Given the description of an element on the screen output the (x, y) to click on. 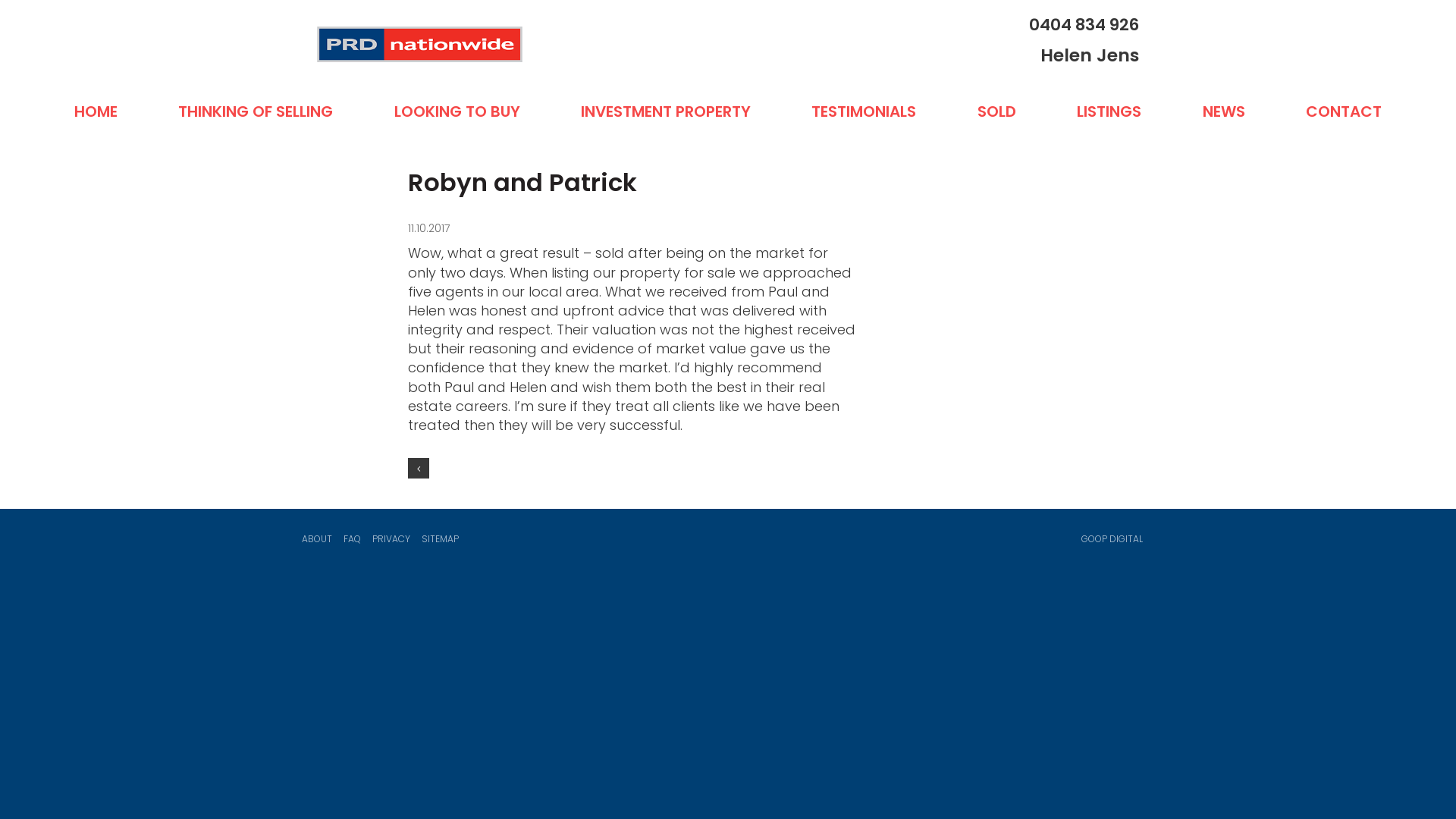
SOLD Element type: text (996, 112)
PRIVACY Element type: text (391, 538)
ABOUT Element type: text (316, 538)
HOME Element type: text (95, 112)
CONTACT Element type: text (1343, 112)
TESTIMONIALS Element type: text (863, 112)
LISTINGS Element type: text (1108, 112)
LOOKING TO BUY Element type: text (456, 112)
THINKING OF SELLING Element type: text (255, 112)
FAQ Element type: text (351, 538)
SITEMAP Element type: text (439, 538)
INVESTMENT PROPERTY Element type: text (665, 112)
NEWS Element type: text (1223, 112)
